Given the description of an element on the screen output the (x, y) to click on. 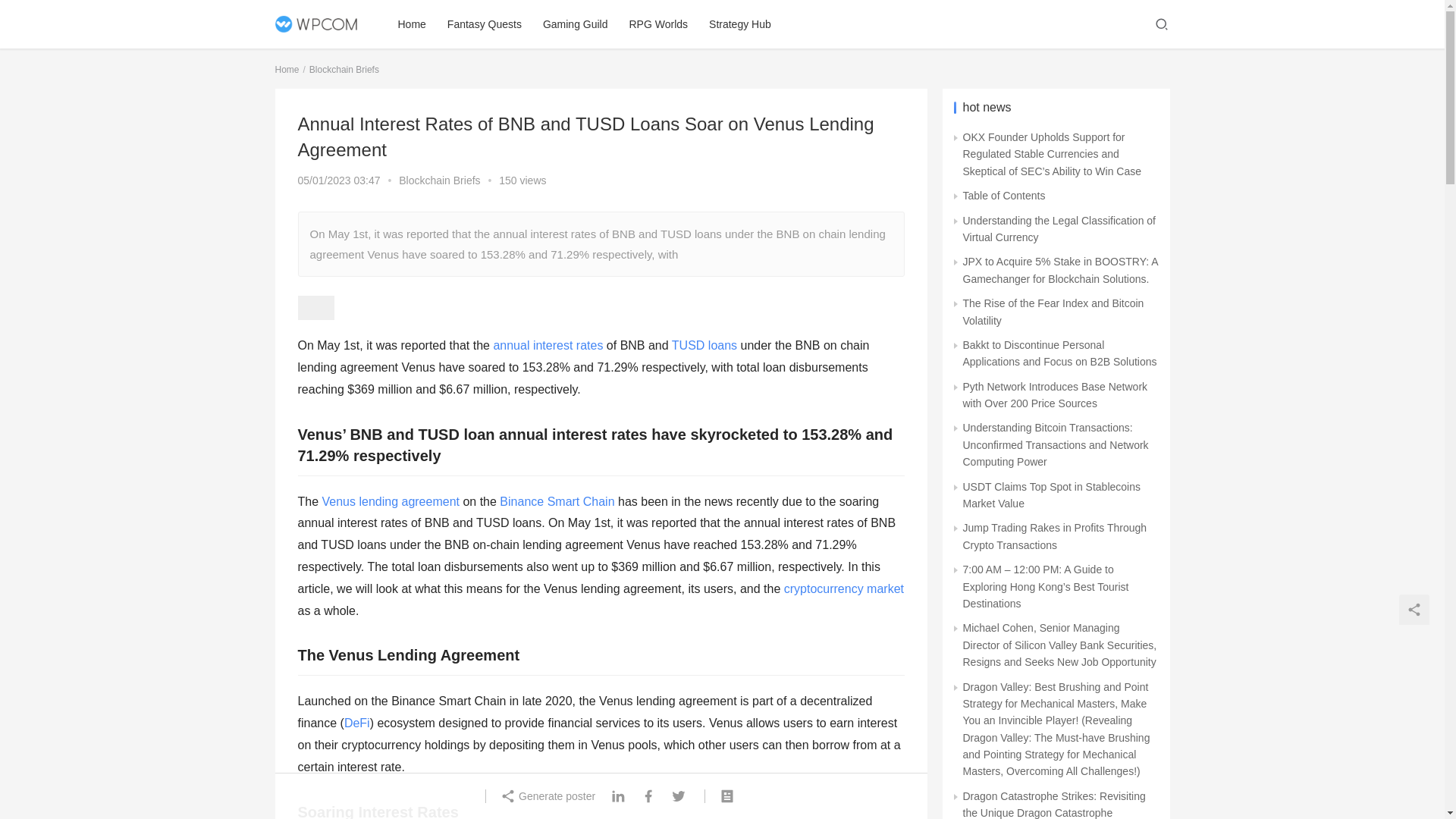
TUSD loans (703, 345)
Home (286, 69)
Binance Smart Chain (556, 501)
DeFi (356, 722)
TUSD loans (703, 345)
annual interest rates (547, 345)
Binance Smart Chain (556, 501)
Strategy Hub (739, 24)
annual interest rates (547, 345)
cryptocurrency market (844, 588)
Generate poster (550, 796)
Blockchain Briefs (343, 69)
Fantasy Quests (484, 24)
RPG Worlds (658, 24)
Home (411, 24)
